Given the description of an element on the screen output the (x, y) to click on. 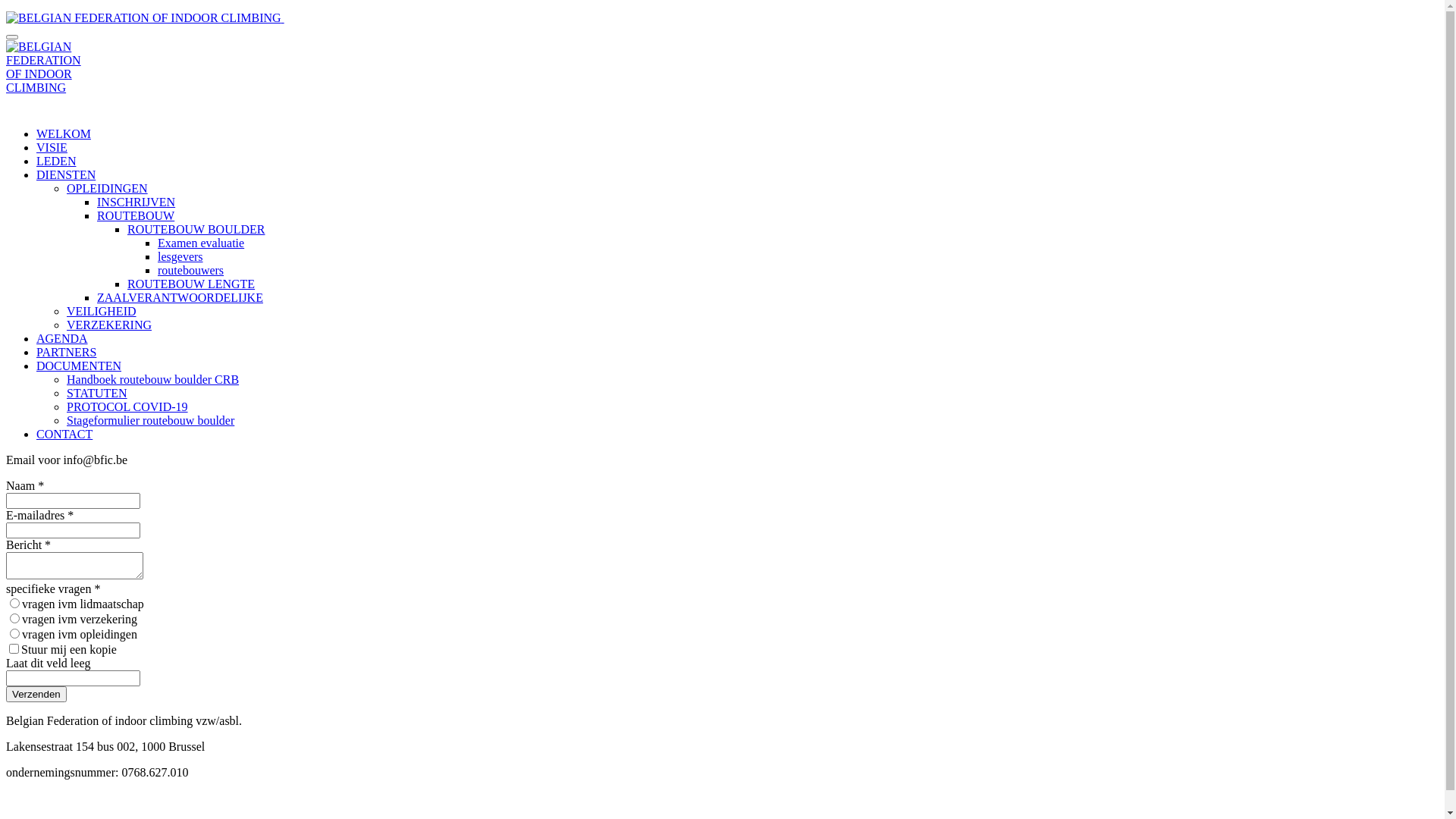
ROUTEBOUW BOULDER Element type: text (195, 228)
DIENSTEN Element type: text (65, 174)
INSCHRIJVEN Element type: text (136, 201)
VERZEKERING Element type: text (108, 324)
WELKOM Element type: text (63, 133)
ROUTEBOUW LENGTE Element type: text (190, 283)
lesgevers Element type: text (180, 256)
Belgian federation of indoor climbing Element type: text (144, 106)
Examen evaluatie Element type: text (200, 242)
PROTOCOL COVID-19 Element type: text (127, 406)
CONTACT Element type: text (64, 433)
Belgian federation of indoor climbing Element type: text (283, 17)
Verzenden Element type: text (36, 694)
AGENDA Element type: text (61, 338)
PARTNERS Element type: text (66, 351)
routebouwers Element type: text (190, 269)
Stageformulier routebouw boulder Element type: text (150, 420)
STATUTEN Element type: text (96, 392)
VISIE Element type: text (51, 147)
VEILIGHEID Element type: text (101, 310)
ZAALVERANTWOORDELIJKE Element type: text (180, 297)
ROUTEBOUW Element type: text (135, 215)
Handboek routebouw boulder CRB Element type: text (152, 379)
BELGIAN FEDERATION OF INDOOR CLIMBING Element type: hover (43, 67)
DOCUMENTEN Element type: text (78, 365)
BELGIAN FEDERATION OF INDOOR CLIMBING Element type: hover (143, 18)
LEDEN Element type: text (55, 160)
OPLEIDINGEN Element type: text (106, 188)
